Given the description of an element on the screen output the (x, y) to click on. 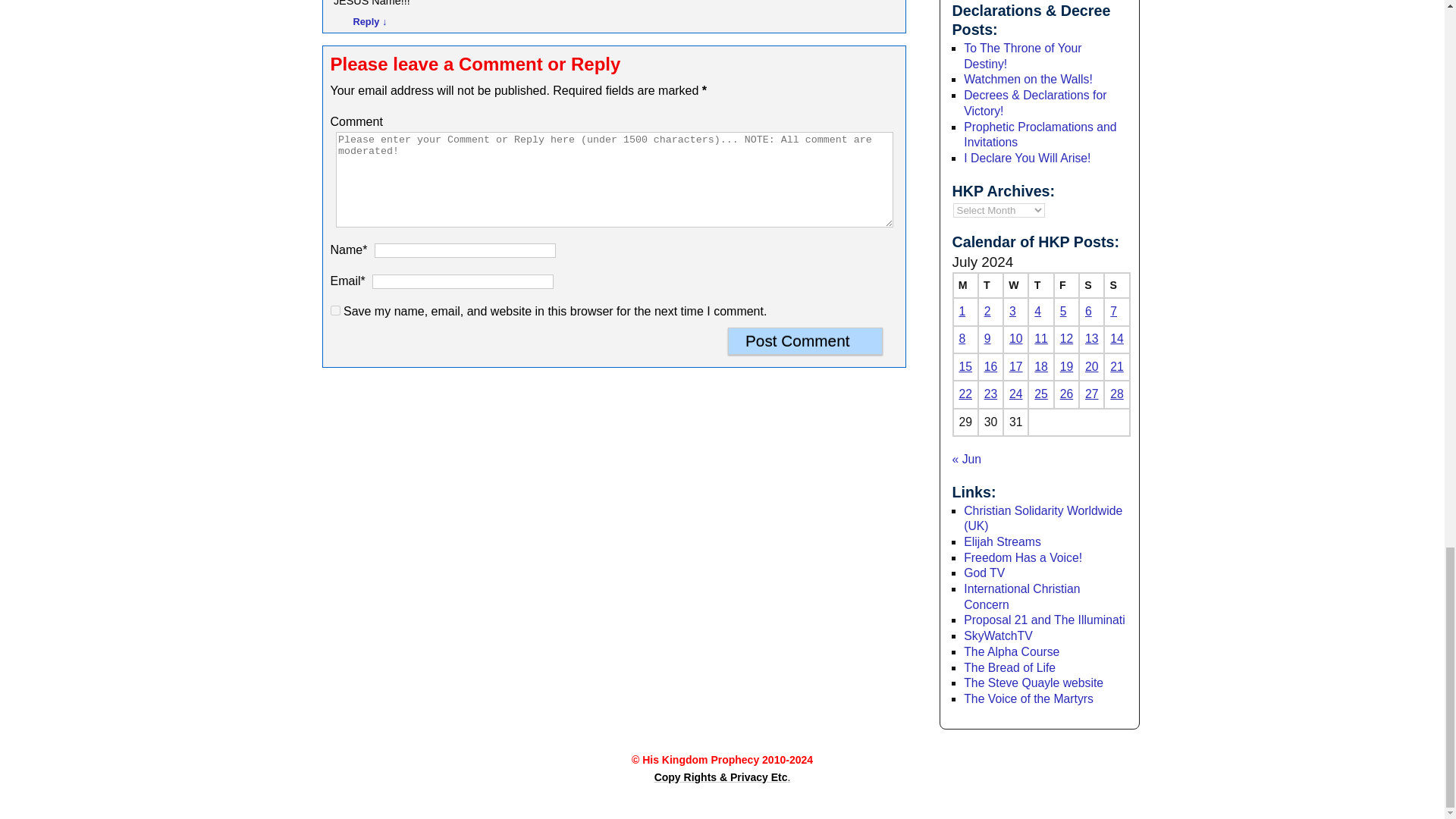
Saturday (1090, 285)
Post Comment (805, 340)
Monday (964, 285)
yes (335, 310)
Tuesday (990, 285)
Sunday (1116, 285)
Thursday (1039, 285)
Friday (1066, 285)
Wednesday (1015, 285)
